Given the description of an element on the screen output the (x, y) to click on. 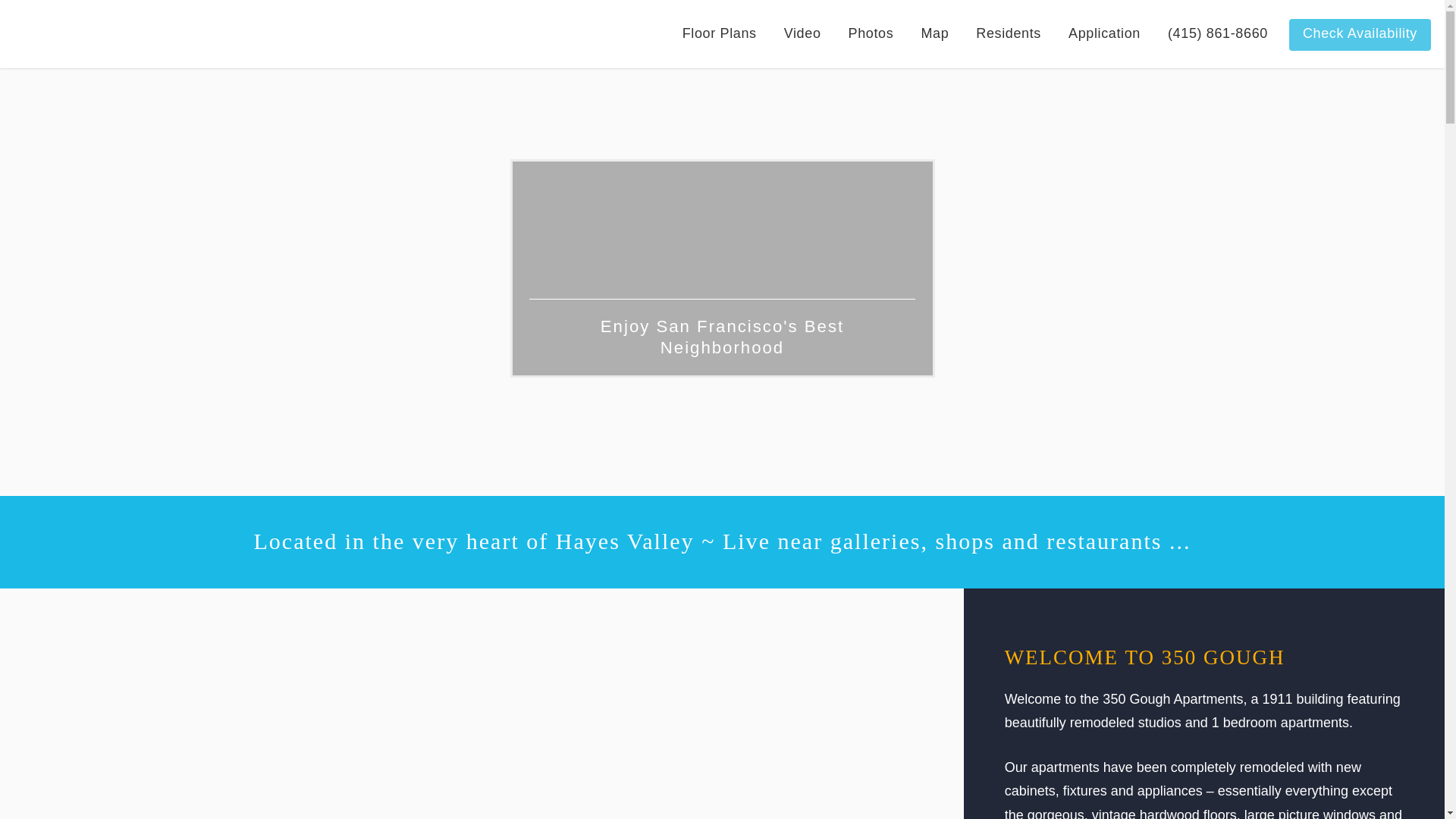
Check Availability Element type: text (1359, 33)
Video Element type: text (802, 33)
(415) 861-8660 Element type: text (1217, 33)
Application Element type: text (1104, 33)
Floor Plans Element type: text (719, 33)
Map Element type: text (934, 33)
Photos Element type: text (870, 33)
Residents Element type: text (1008, 33)
